Given the description of an element on the screen output the (x, y) to click on. 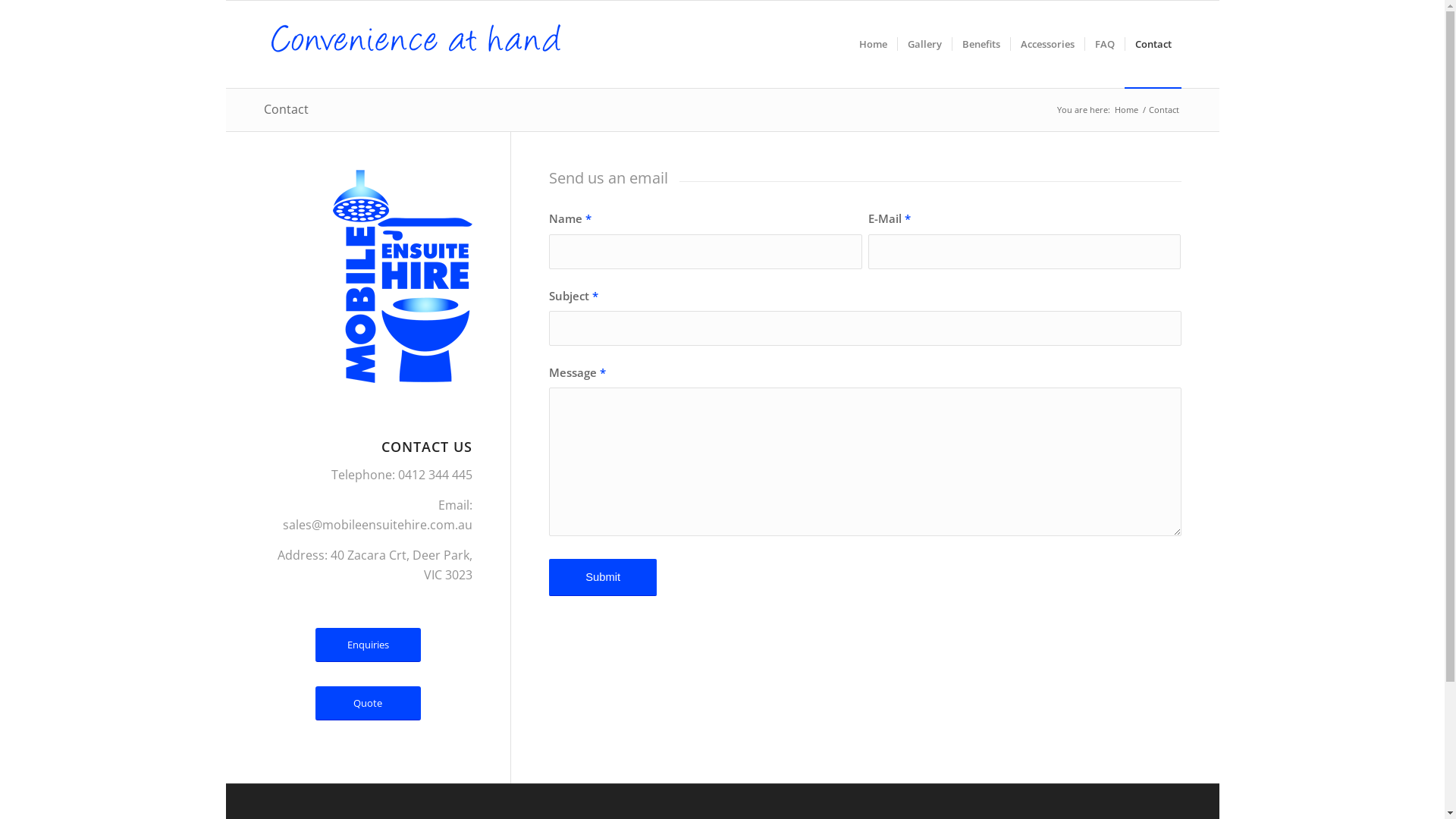
Quote Element type: text (367, 703)
Enquiries Element type: text (367, 644)
Submit Element type: text (602, 577)
Accessories Element type: text (1047, 43)
Home Element type: text (873, 43)
sales@mobileensuitehire.com.au Element type: text (377, 524)
FAQ Element type: text (1104, 43)
Home Element type: text (1125, 109)
Contact Element type: text (285, 108)
Benefits Element type: text (979, 43)
Gallery Element type: text (923, 43)
Contact Element type: text (1151, 43)
